Given the description of an element on the screen output the (x, y) to click on. 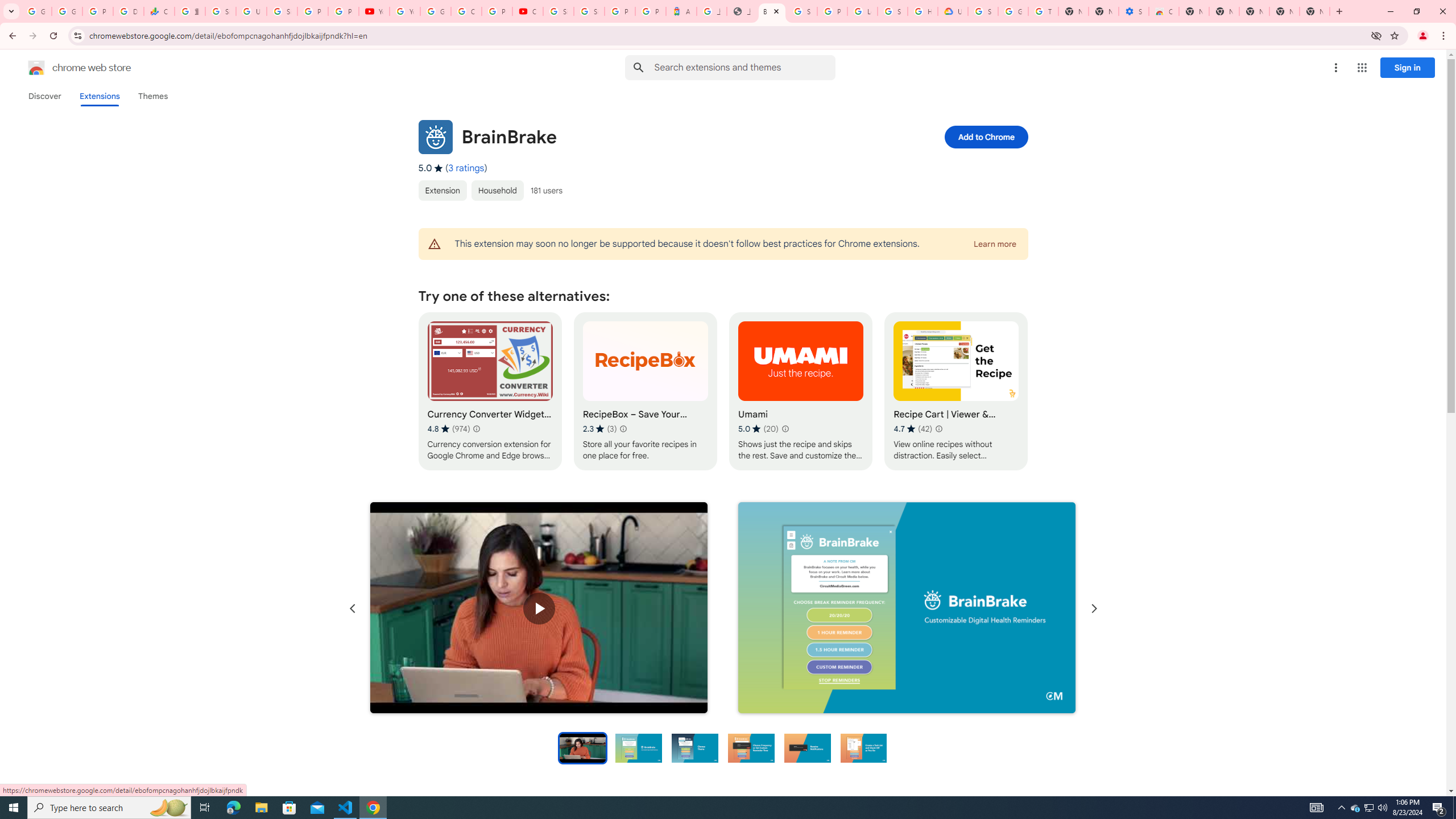
Item media 2 screenshot (906, 608)
Search input (744, 67)
Sign in - Google Accounts (220, 11)
